Given the description of an element on the screen output the (x, y) to click on. 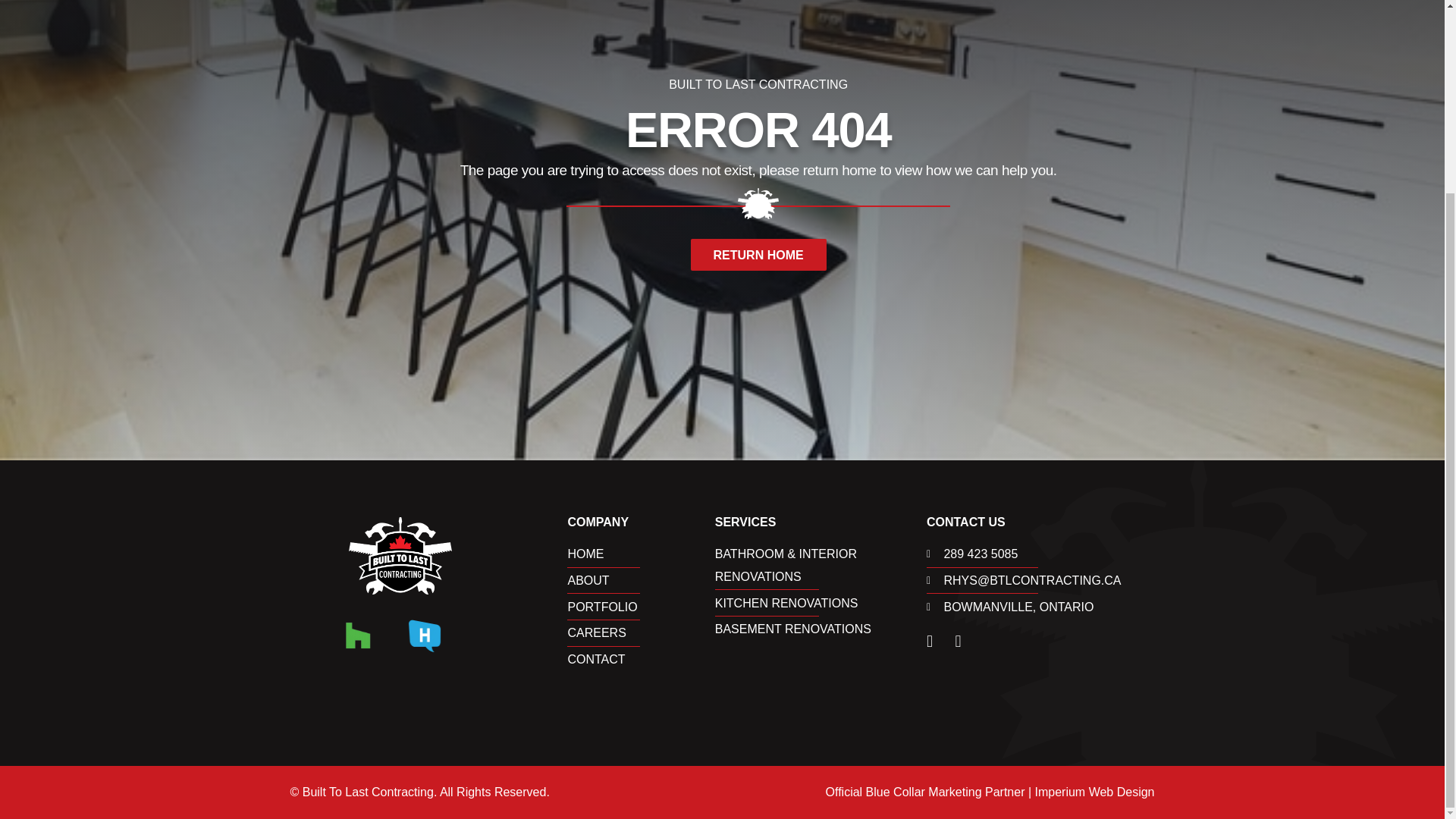
RETURN HOME (758, 255)
289 423 5085 (1040, 553)
BASEMENT RENOVATIONS (820, 629)
KITCHEN RENOVATIONS (820, 603)
ABOUT (640, 580)
HOME (640, 553)
PORTFOLIO (640, 607)
Official Blue Collar Marketing Partner (925, 791)
CONTACT (640, 659)
BOWMANVILLE, ONTARIO (1040, 607)
